Given the description of an element on the screen output the (x, y) to click on. 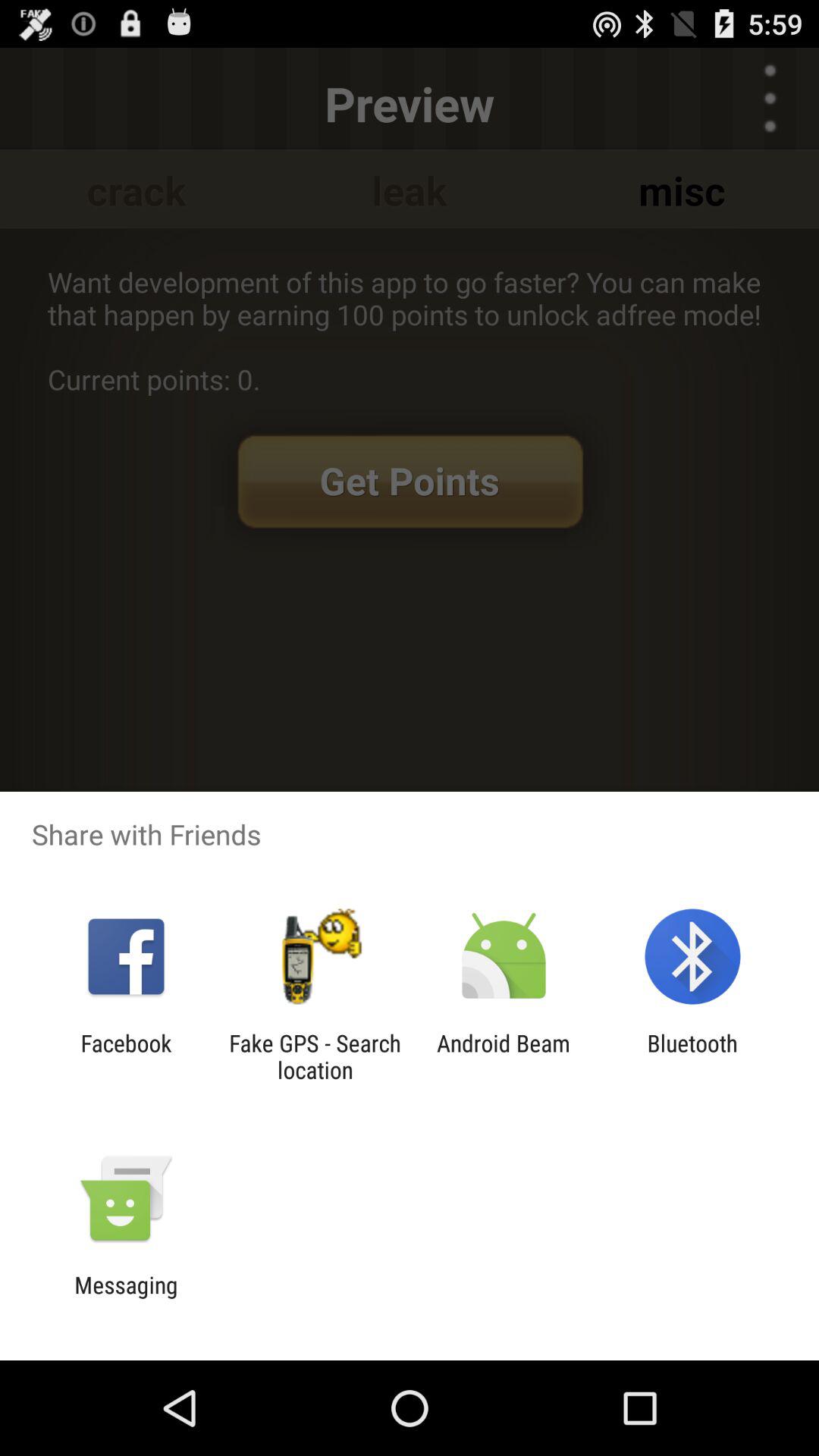
turn off item next to the facebook app (314, 1056)
